Given the description of an element on the screen output the (x, y) to click on. 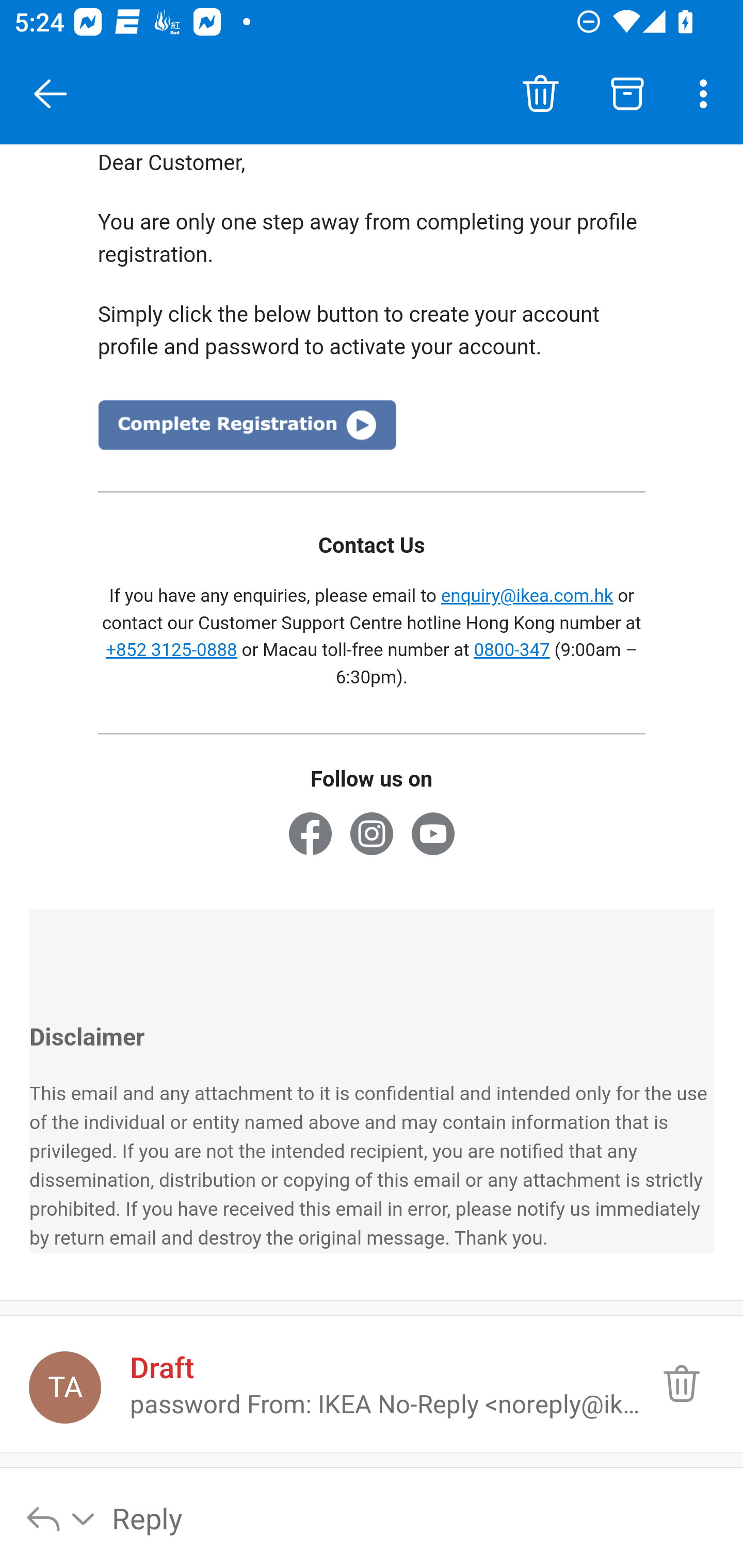
Close (50, 93)
Delete (540, 93)
Archive (626, 93)
More options (706, 93)
image (246, 432)
enquiry@ikea.com.hk (526, 597)
+852 3125-0888 (172, 651)
0800-347 (512, 651)
IKEAhongkong (310, 838)
ikeahongkong (371, 838)
UCcQ5WlinXufbKizIJHlI4LQ (432, 838)
Test Appium, testappium002@outlook.com (64, 1387)
Delete draft (681, 1383)
Reply options (61, 1517)
